Given the description of an element on the screen output the (x, y) to click on. 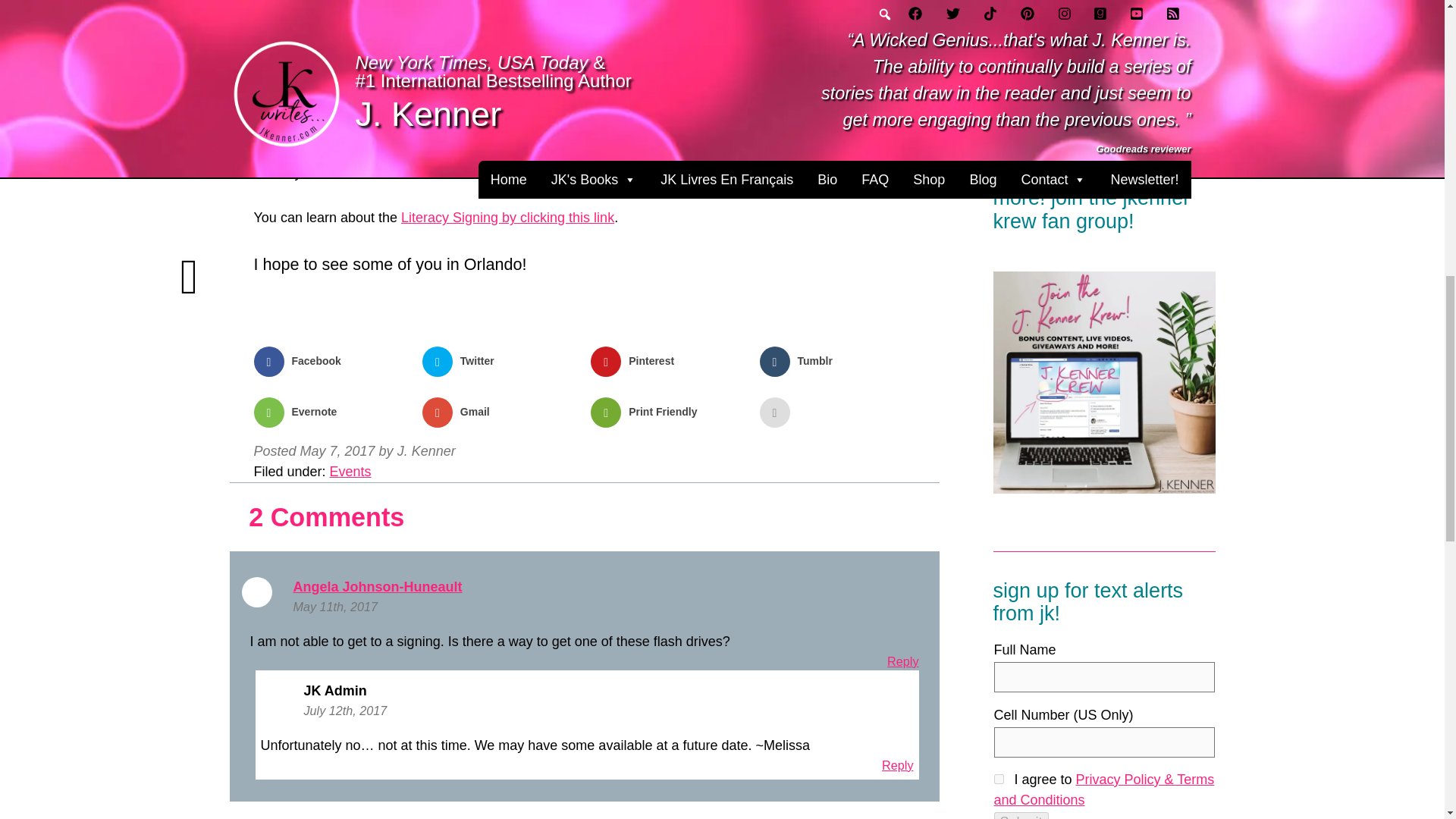
1 (997, 778)
Submit (1020, 815)
